Given the description of an element on the screen output the (x, y) to click on. 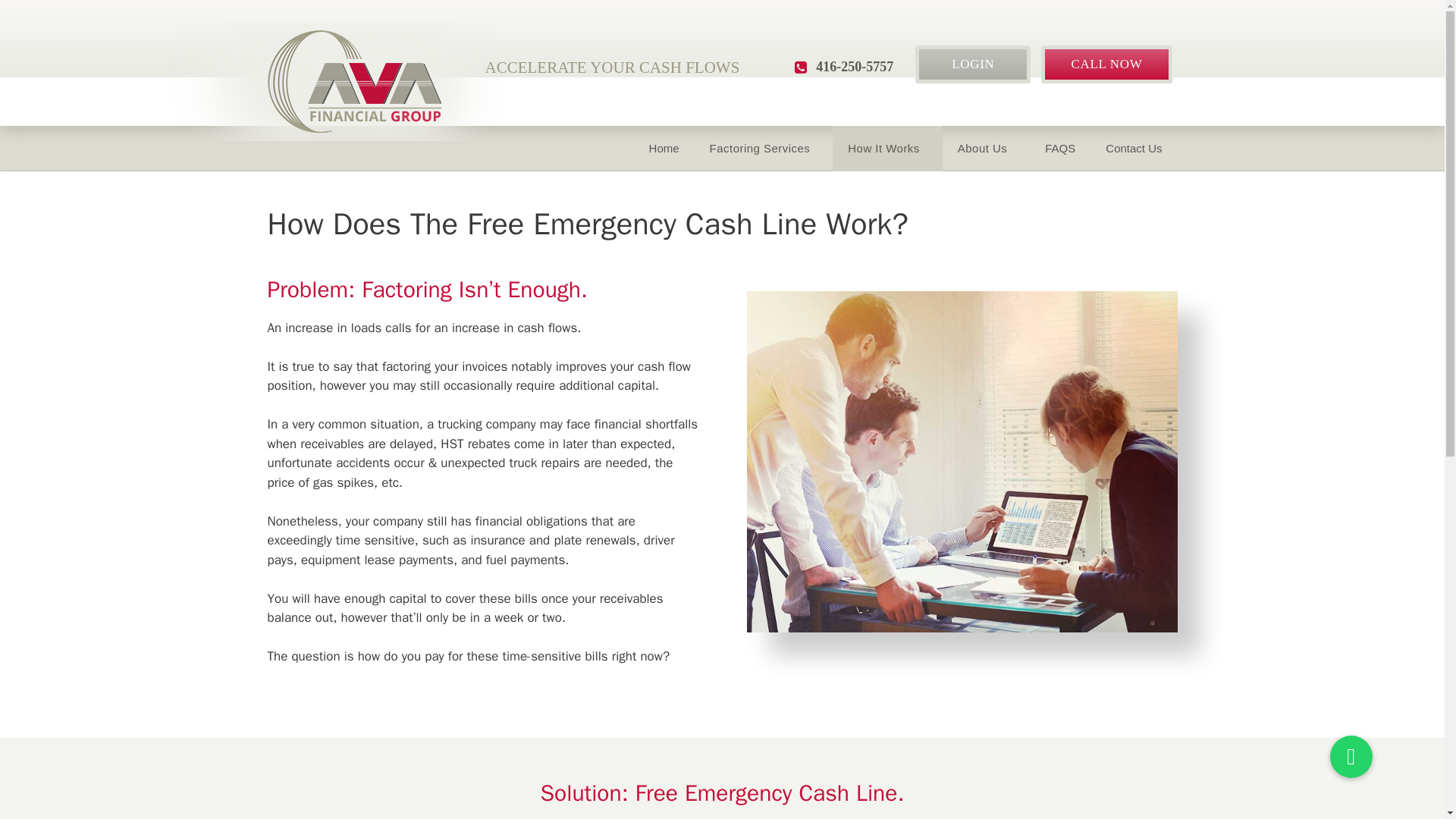
CALL NOW (1106, 64)
LOGIN (972, 64)
416-250-5757 (854, 66)
Home (663, 148)
AVA Financial Group (353, 81)
Factoring Services (763, 148)
How It Works (887, 148)
